Given the description of an element on the screen output the (x, y) to click on. 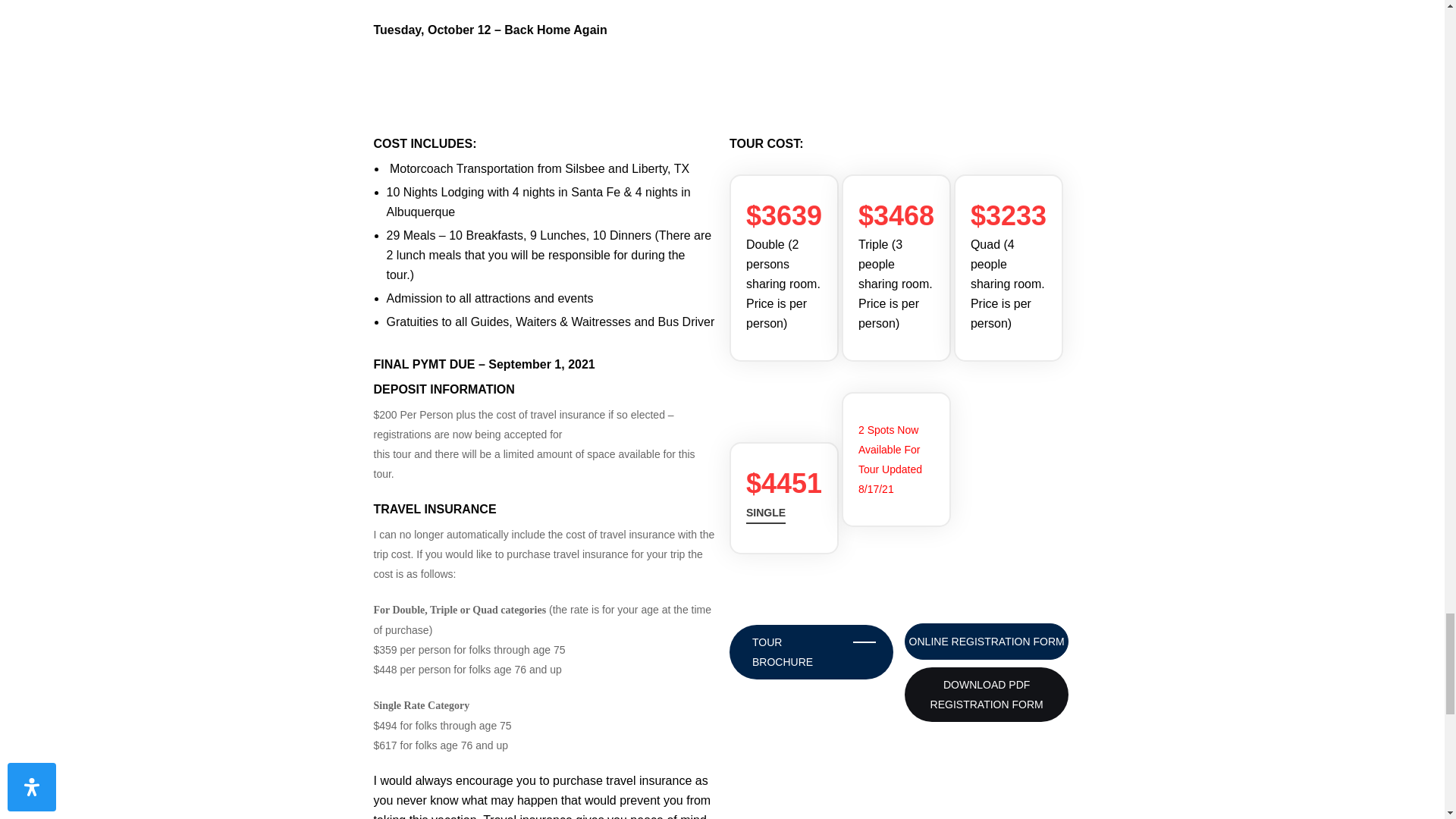
DOWNLOAD PDF REGISTRATION FORM (986, 694)
ONLINE REGISTRATION FORM (986, 641)
TOUR BROCHURE (811, 651)
